Given the description of an element on the screen output the (x, y) to click on. 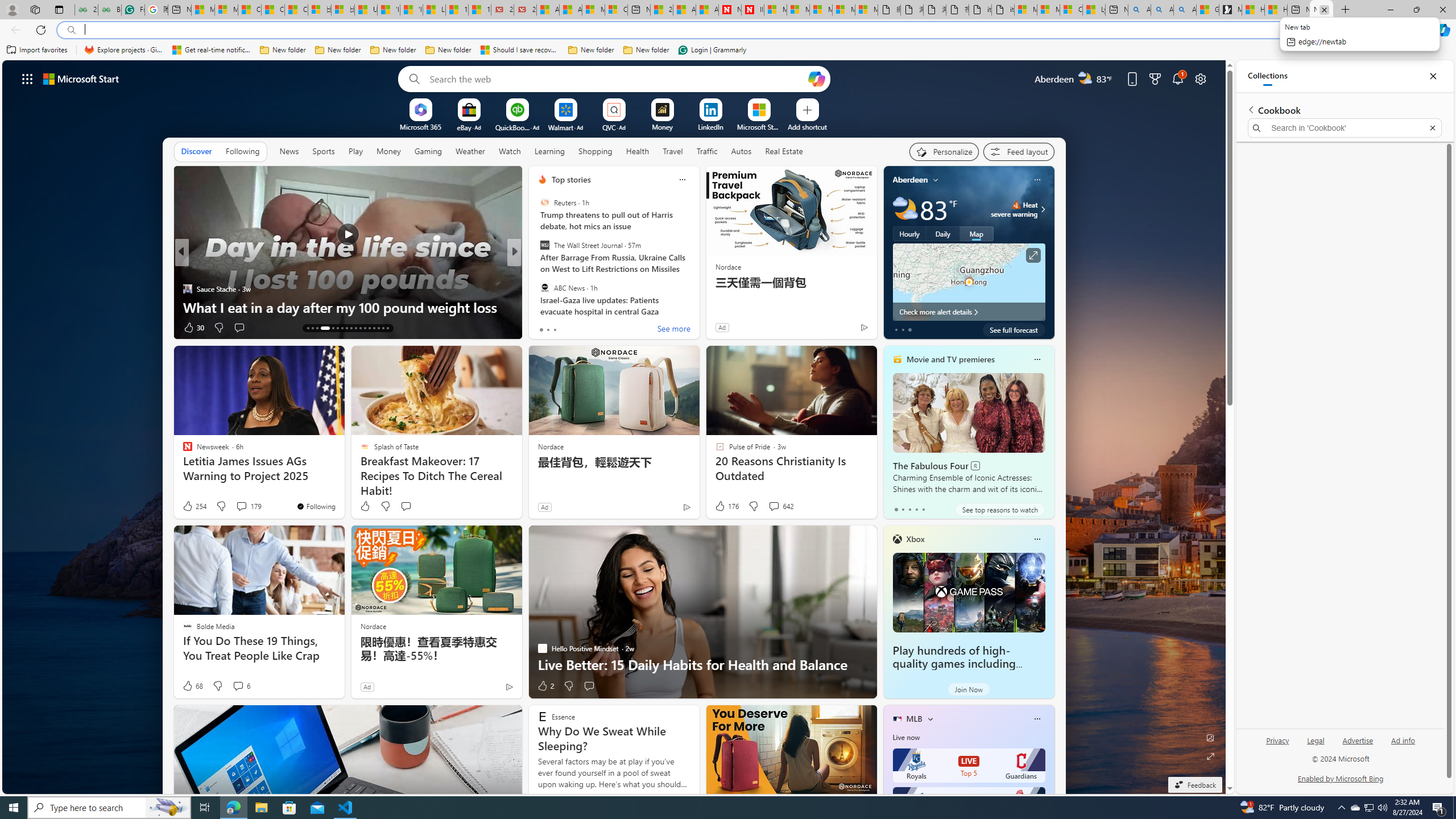
Weather (470, 151)
68 Like (192, 685)
600 Like (545, 327)
To get missing image descriptions, open the context menu. (613, 426)
Gaming (428, 151)
Xbox (914, 538)
AutomationID: tab-20 (346, 328)
Craft Your Happy Place (537, 270)
Daily (942, 233)
